Given the description of an element on the screen output the (x, y) to click on. 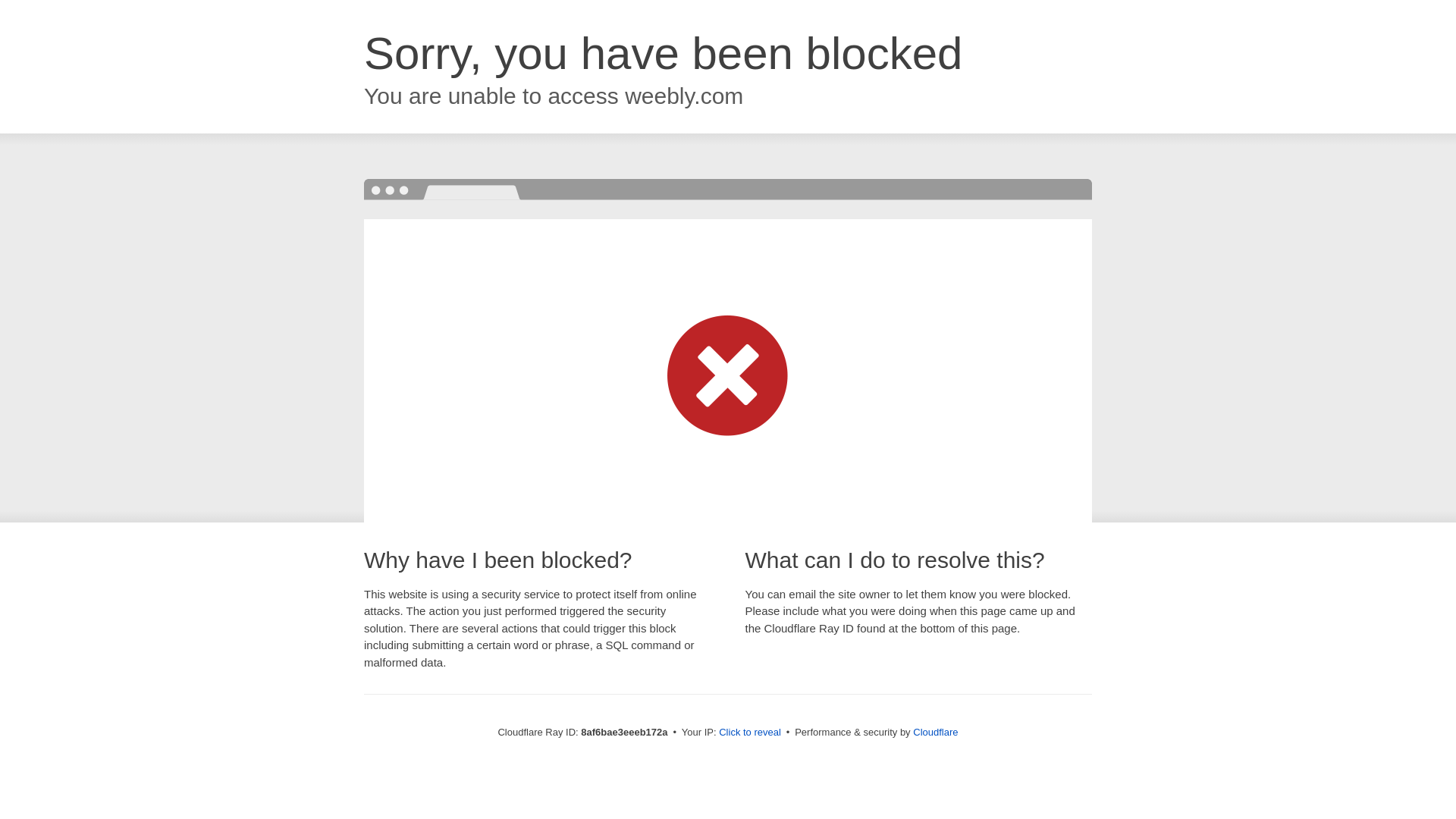
Click to reveal (749, 732)
Cloudflare (935, 731)
